Given the description of an element on the screen output the (x, y) to click on. 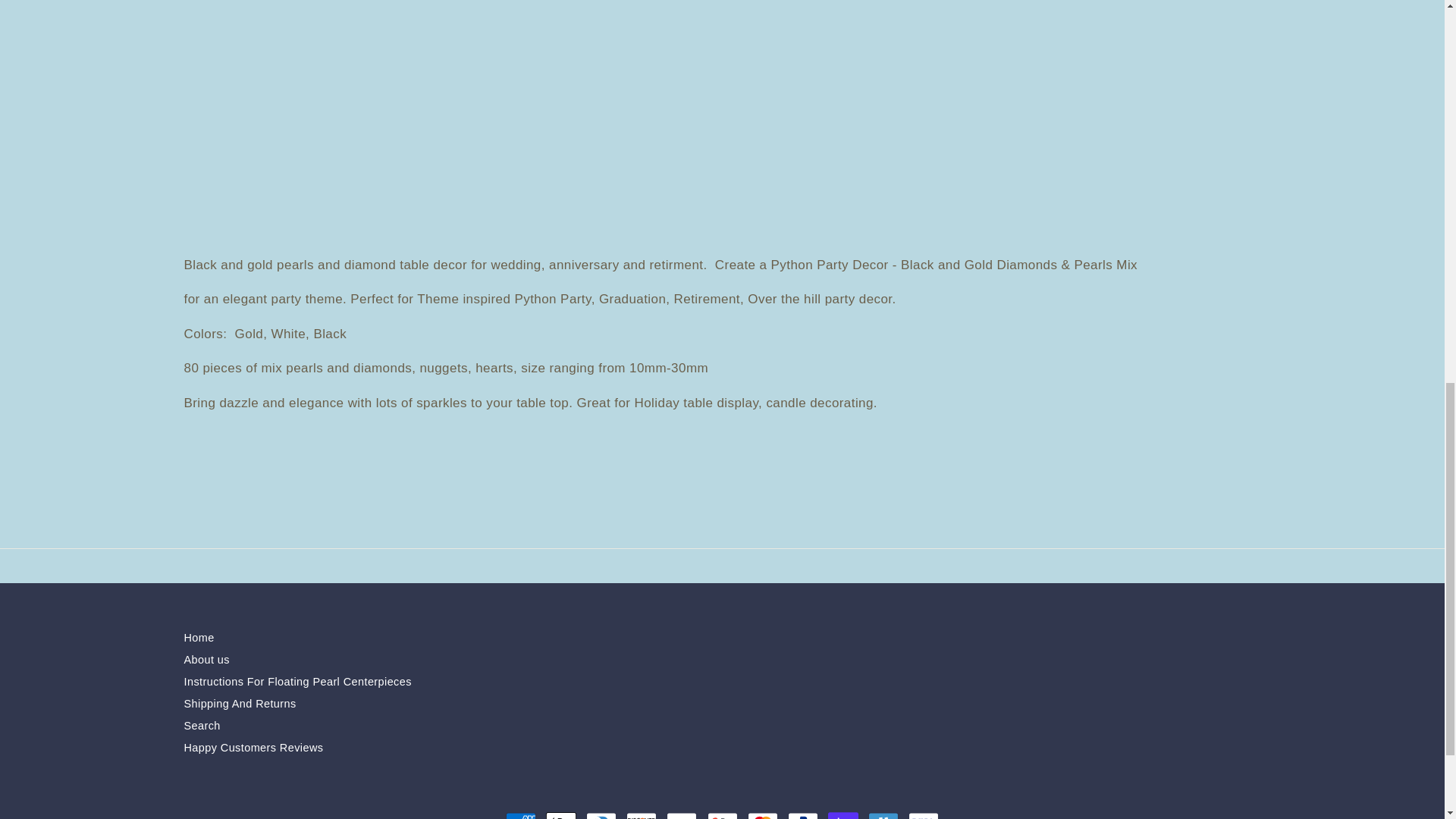
Meta Pay (681, 812)
Google Pay (721, 812)
American Express (520, 812)
Mastercard (762, 812)
Shop Pay (843, 812)
Venmo (882, 812)
Apple Pay (561, 812)
PayPal (802, 812)
Discover (641, 812)
Diners Club (600, 812)
